Given the description of an element on the screen output the (x, y) to click on. 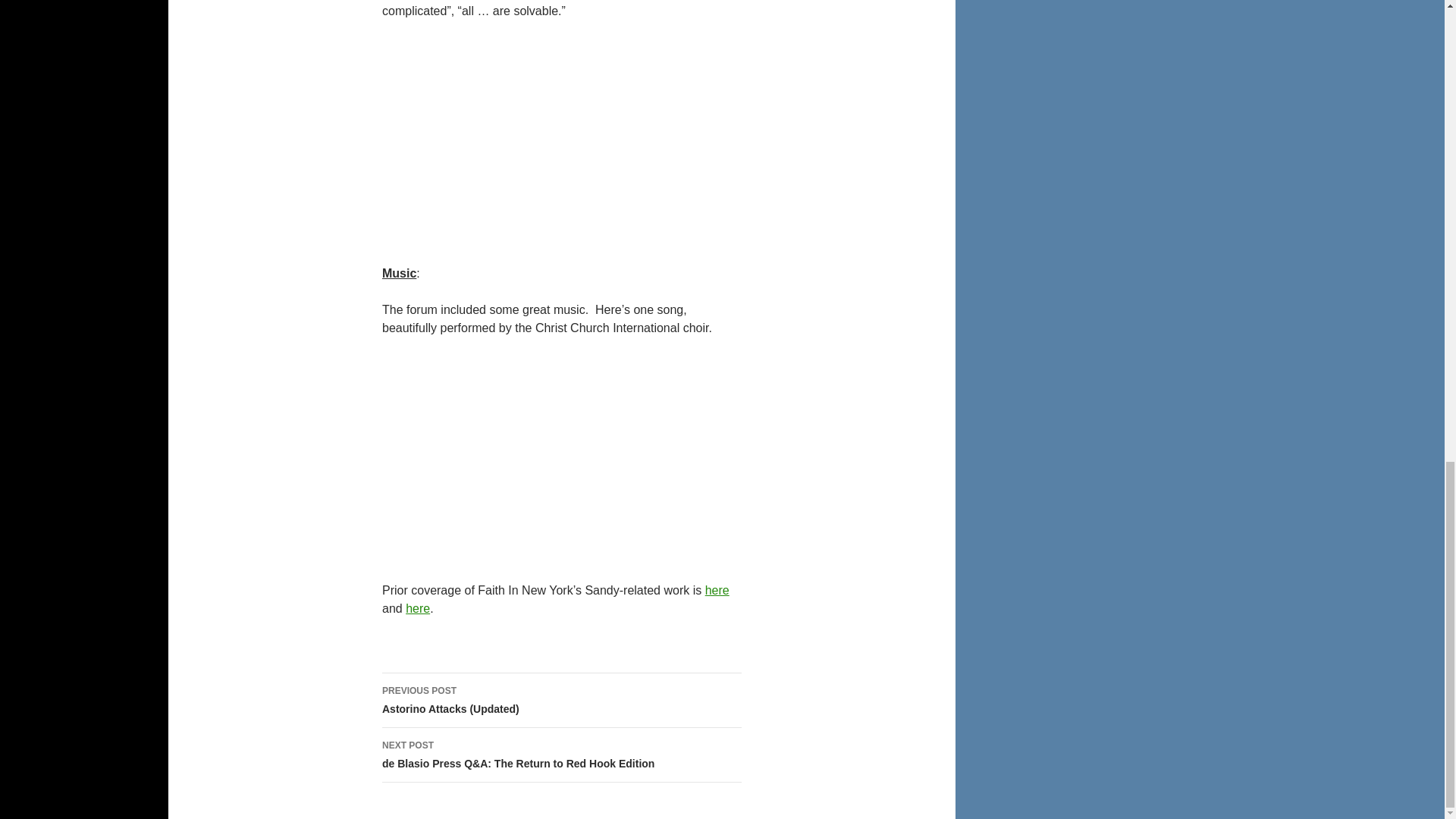
here (417, 608)
Faith In NY 7-29-14 Peterson (561, 139)
Faith In New York 7-29-14 Music (561, 456)
here (716, 590)
